Given the description of an element on the screen output the (x, y) to click on. 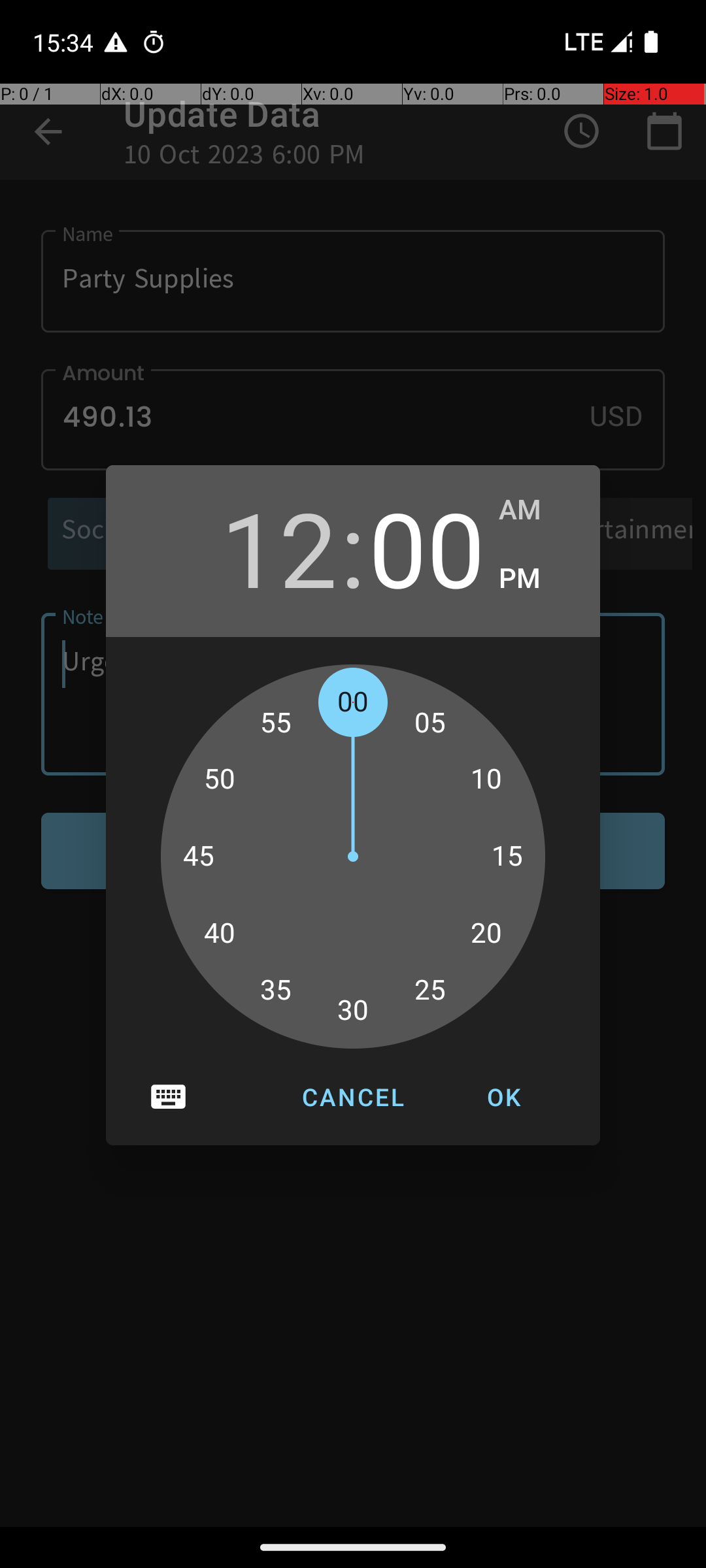
AM Element type: android.widget.RadioButton (535, 510)
PM Element type: android.widget.RadioButton (535, 578)
